Given the description of an element on the screen output the (x, y) to click on. 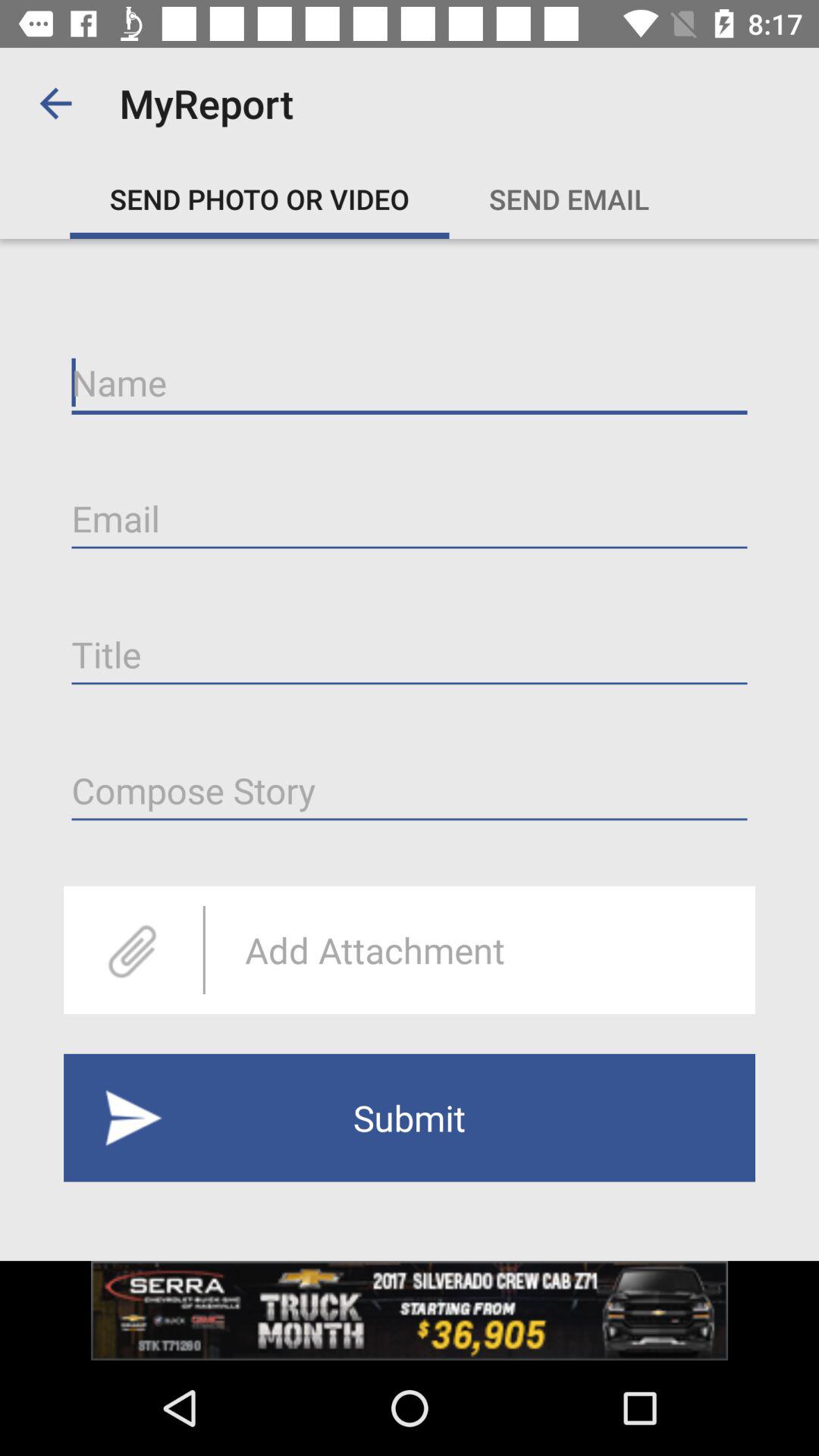
type name on line (409, 383)
